Given the description of an element on the screen output the (x, y) to click on. 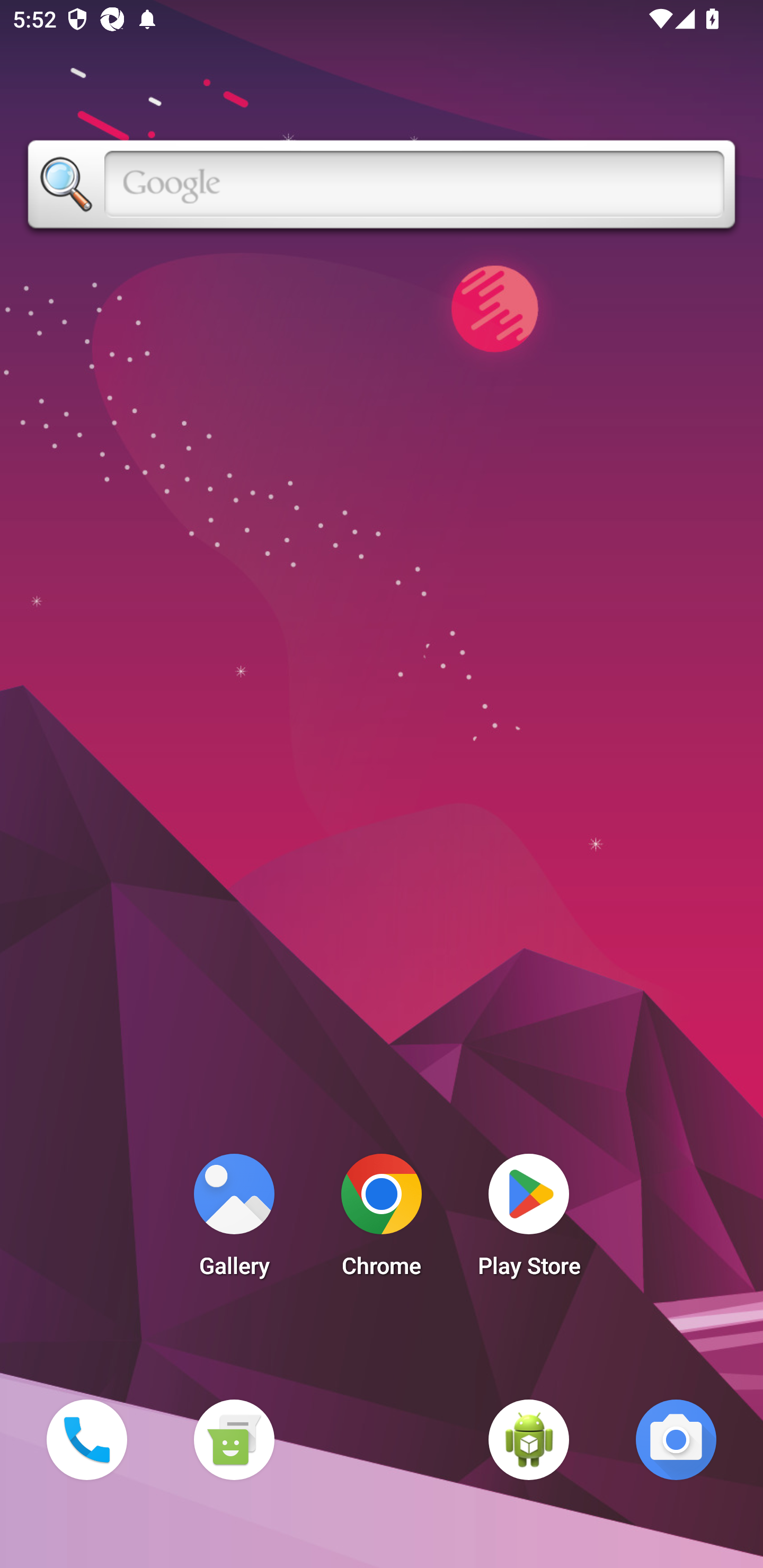
Gallery (233, 1220)
Chrome (381, 1220)
Play Store (528, 1220)
Phone (86, 1439)
Messaging (233, 1439)
WebView Browser Tester (528, 1439)
Camera (676, 1439)
